Given the description of an element on the screen output the (x, y) to click on. 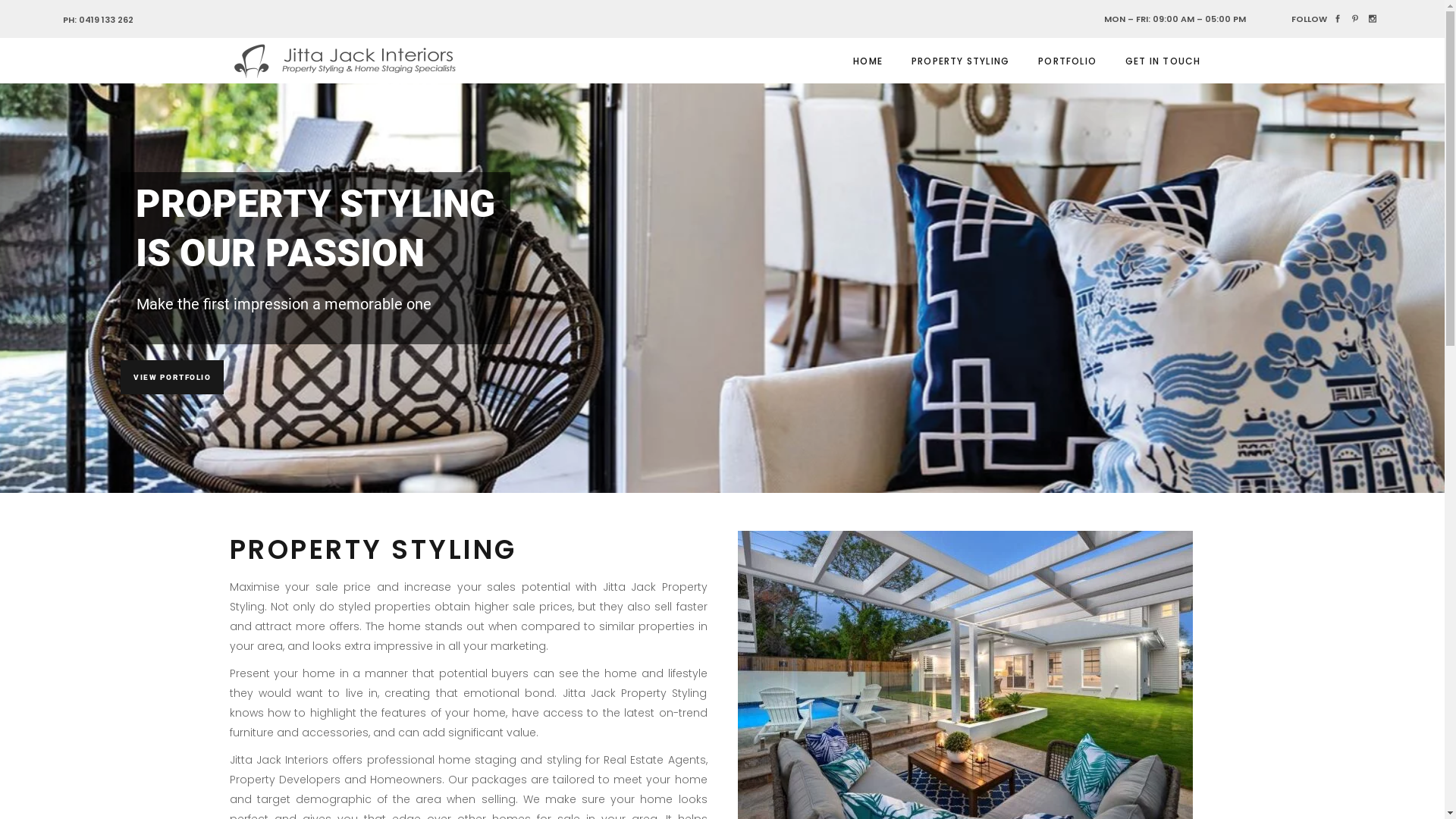
Portfolio Element type: text (1000, 771)
Property Styling Element type: text (940, 771)
GET IN TOUCH Element type: text (1162, 60)
Get In Touch Element type: text (1053, 771)
PORTFOLIO Element type: text (1066, 60)
PROPERTY STYLING Element type: text (960, 60)
HOME Element type: text (867, 60)
Home Element type: text (885, 771)
VIEW PORTFOLIO Element type: text (171, 377)
